Given the description of an element on the screen output the (x, y) to click on. 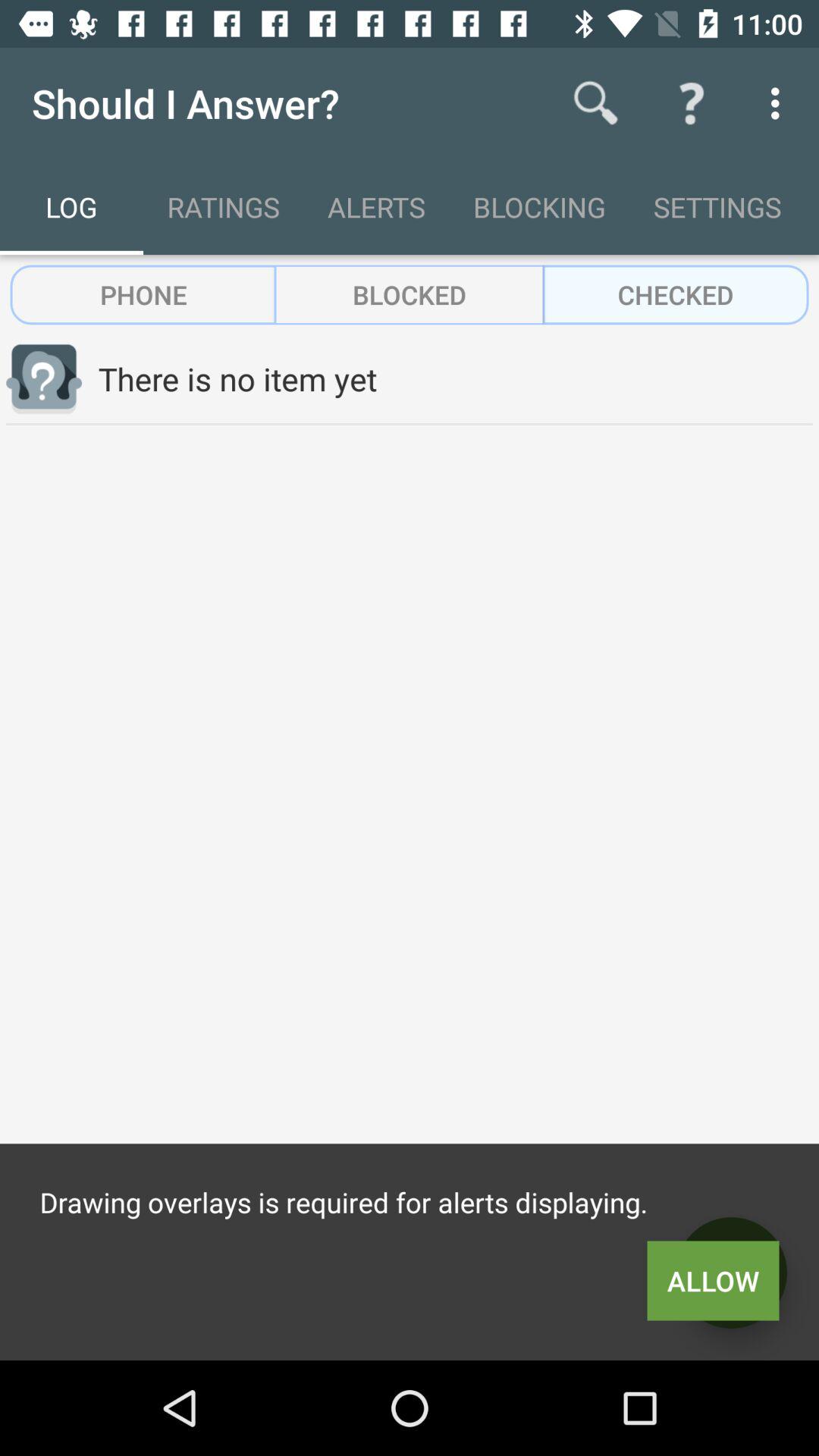
click on checked (675, 294)
select the text phone (143, 294)
select the text blocked (409, 294)
click on more icon on the top right corner (779, 103)
